Given the description of an element on the screen output the (x, y) to click on. 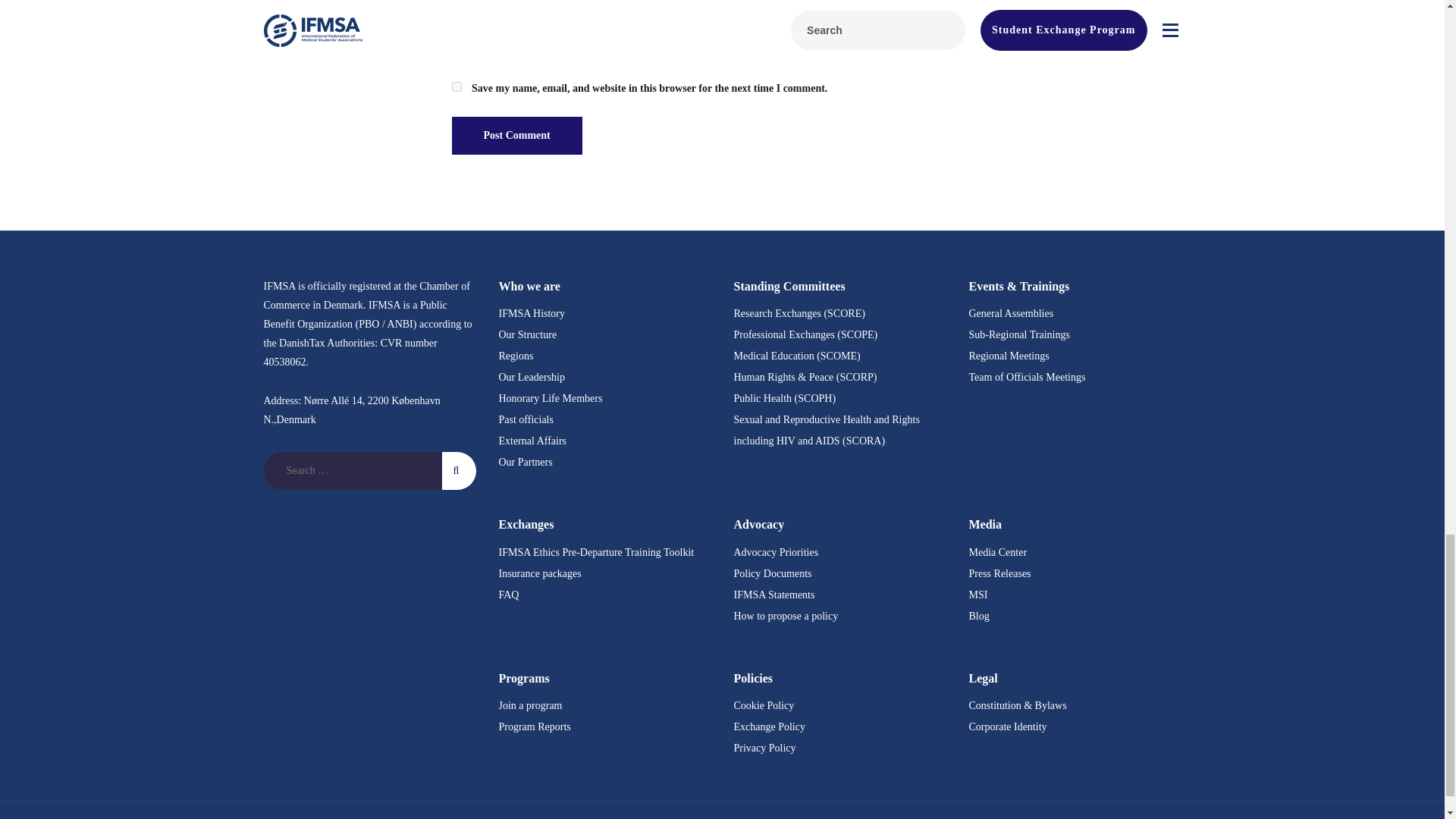
Post Comment (516, 135)
yes (456, 86)
